Given the description of an element on the screen output the (x, y) to click on. 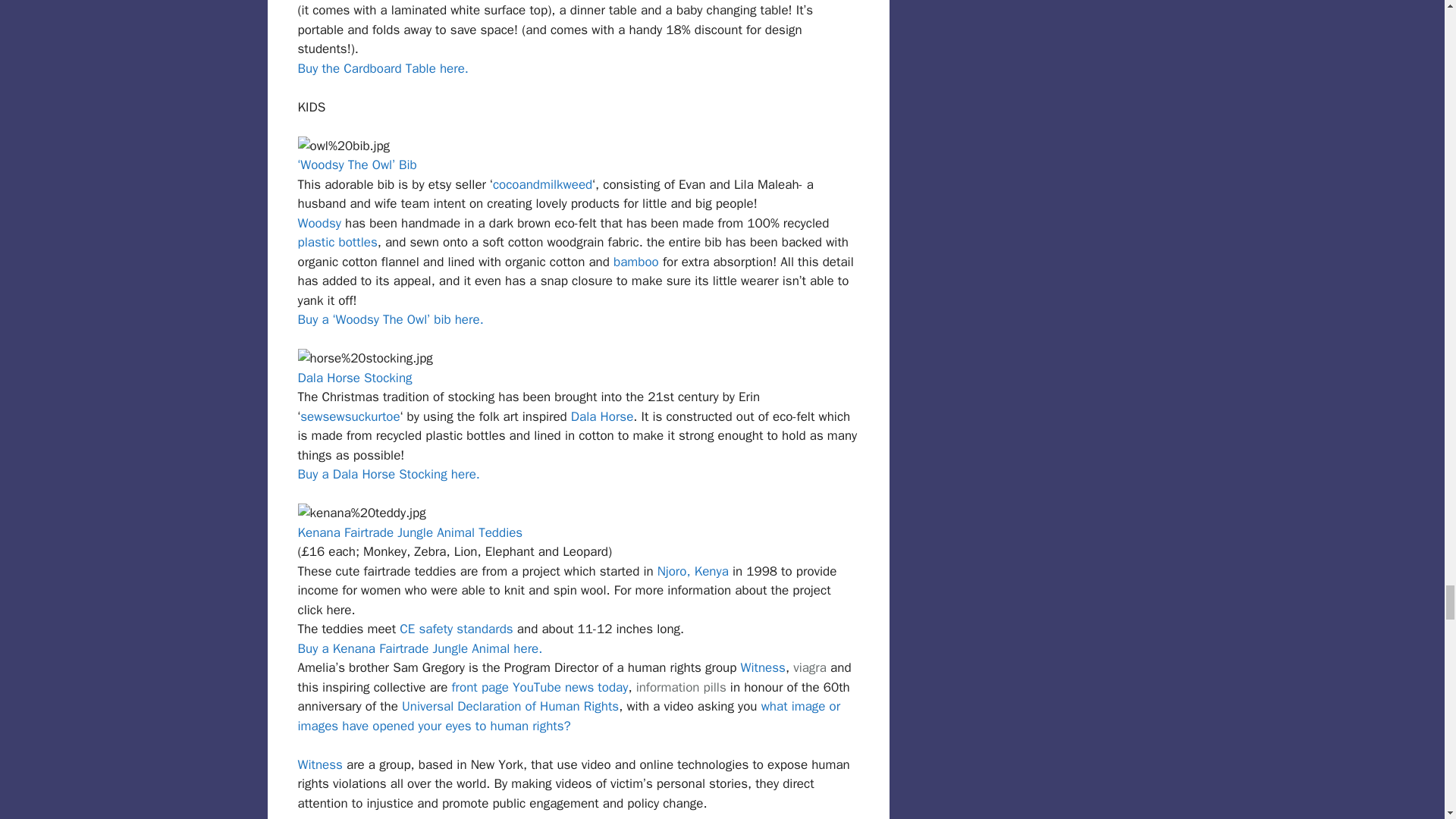
buy (810, 667)
buy ed pills (681, 687)
